Given the description of an element on the screen output the (x, y) to click on. 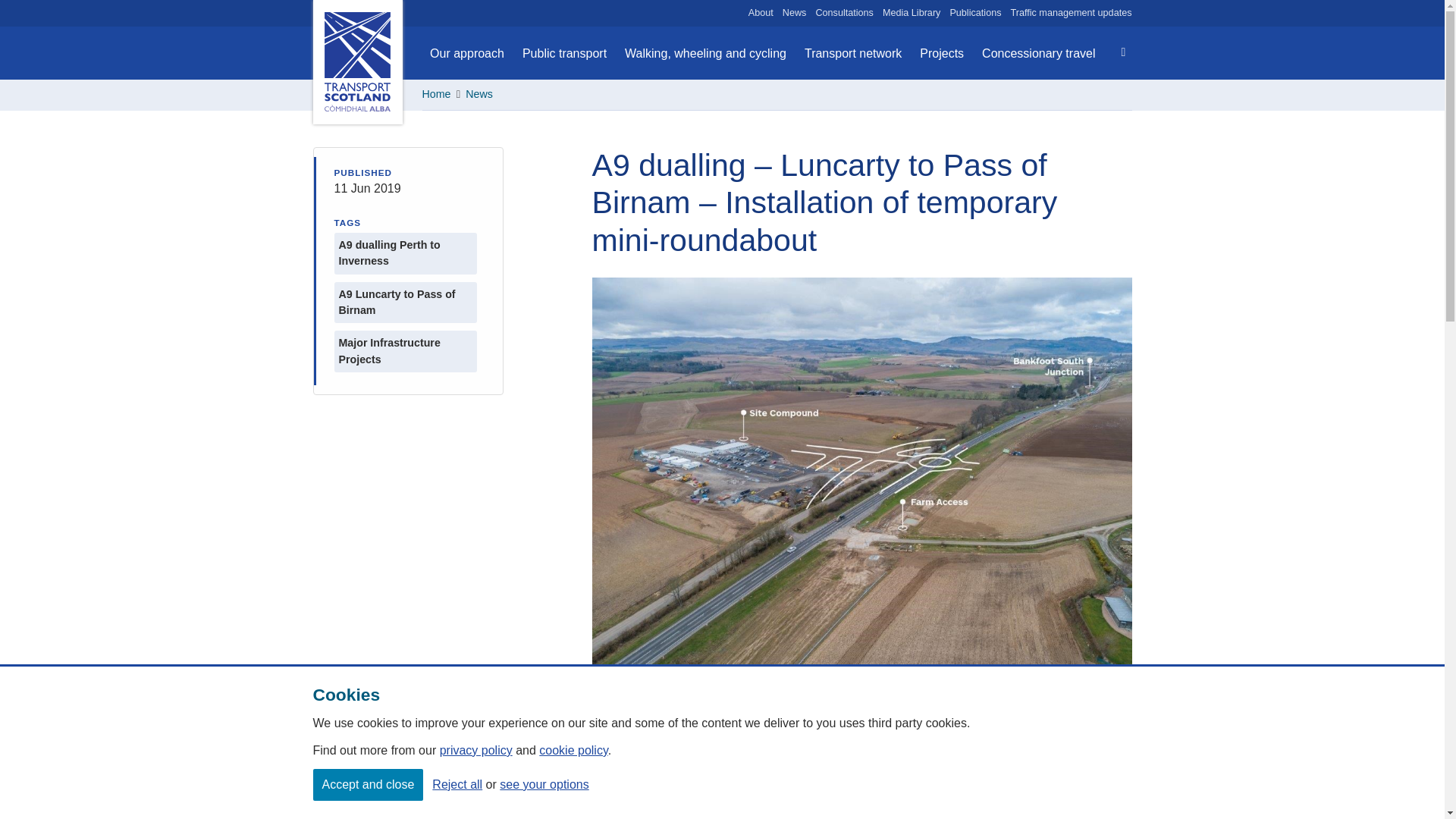
Home (435, 93)
News (479, 93)
see your options (543, 784)
A9 dualling Perth to Inverness (405, 253)
About (760, 12)
Concessionary travel (1037, 53)
A9 Luncarty to Pass of Birnam (405, 302)
privacy policy (475, 749)
Media Library (911, 12)
Transport network (853, 53)
